Given the description of an element on the screen output the (x, y) to click on. 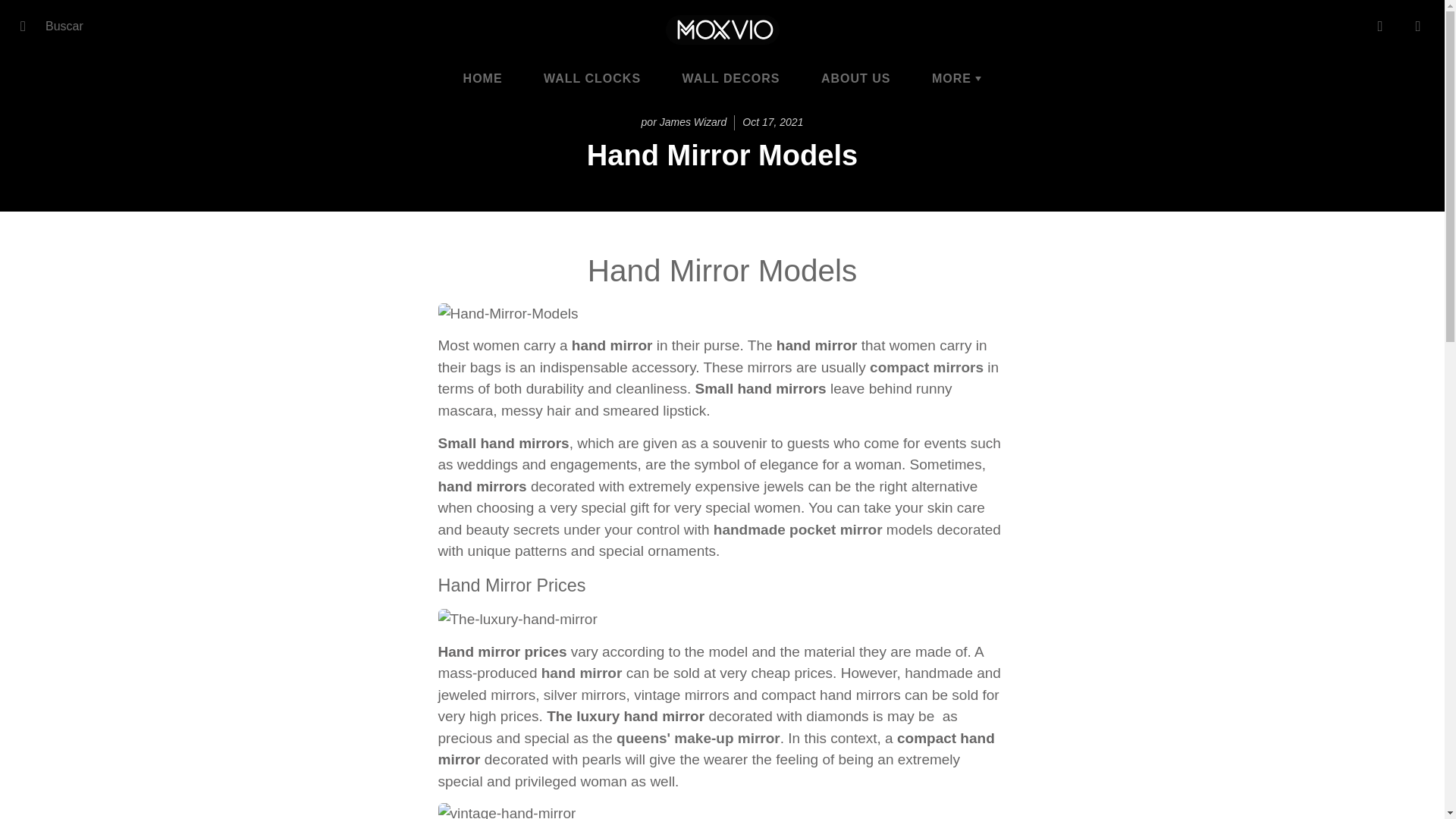
ABOUT US (856, 77)
WALL CLOCKS (591, 77)
MORE (956, 77)
WALL DECORS (731, 77)
My account (1379, 26)
HOME (482, 77)
Search (28, 26)
You have 0 items in your cart (1417, 26)
